Given the description of an element on the screen output the (x, y) to click on. 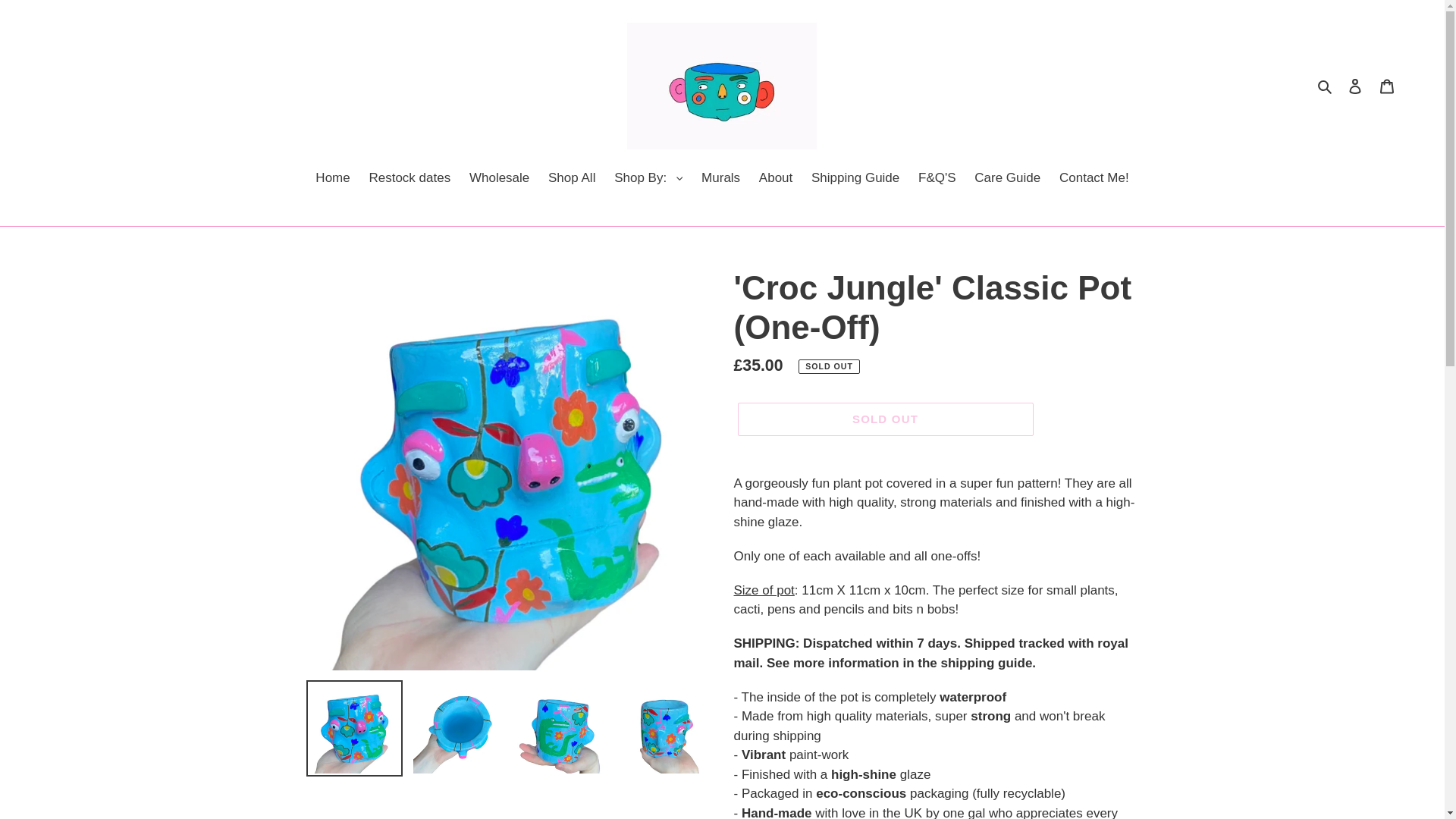
Log in (1355, 86)
Restock dates (409, 179)
Cart (1387, 86)
Search (1326, 86)
Home (331, 179)
